Given the description of an element on the screen output the (x, y) to click on. 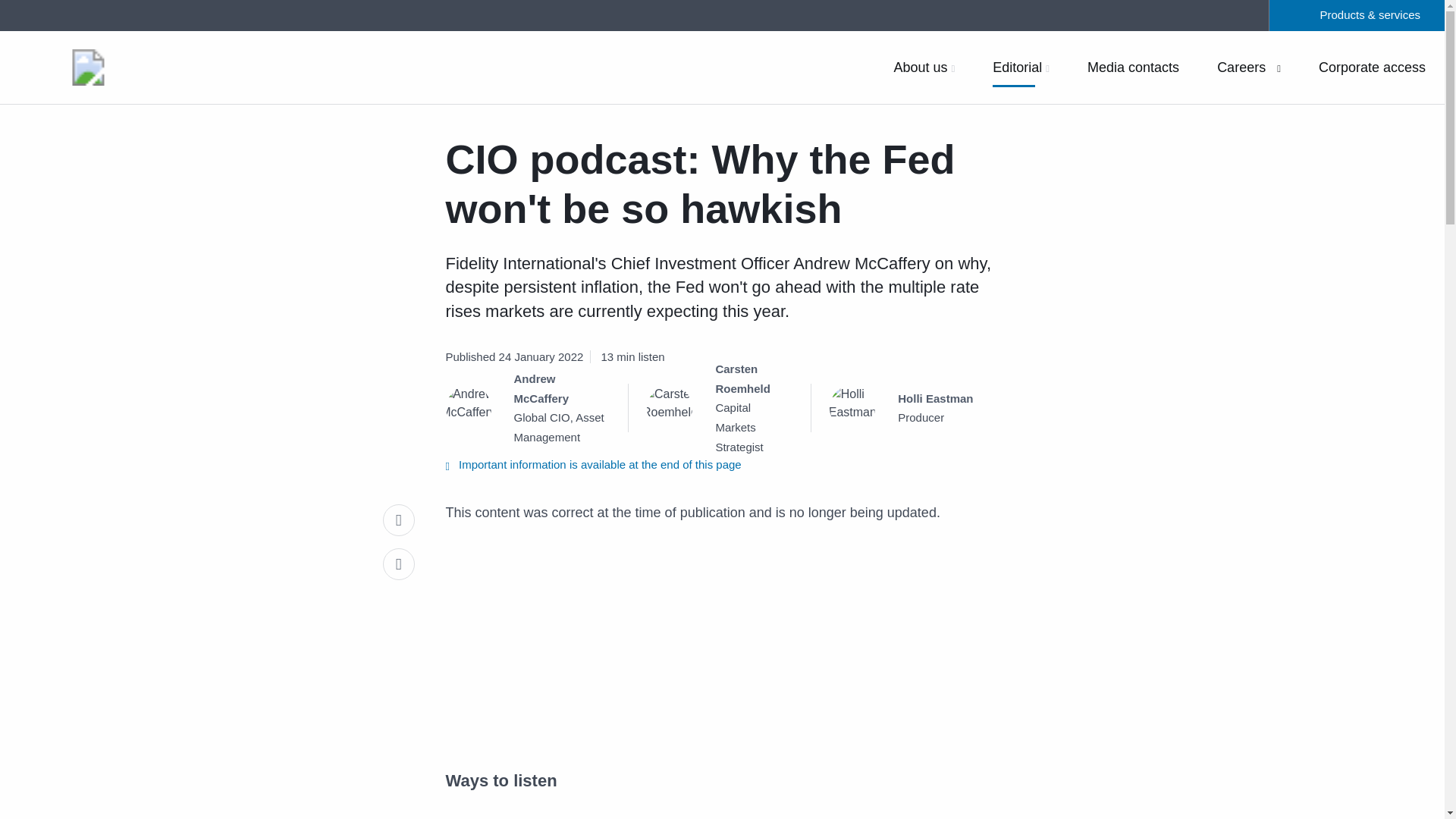
Fidelity International Logo (88, 67)
Editorial (1021, 66)
Media contacts (1133, 66)
Corporate access (1372, 66)
Fidelity International Logo (88, 67)
About us (924, 66)
Careers (1248, 66)
